Given the description of an element on the screen output the (x, y) to click on. 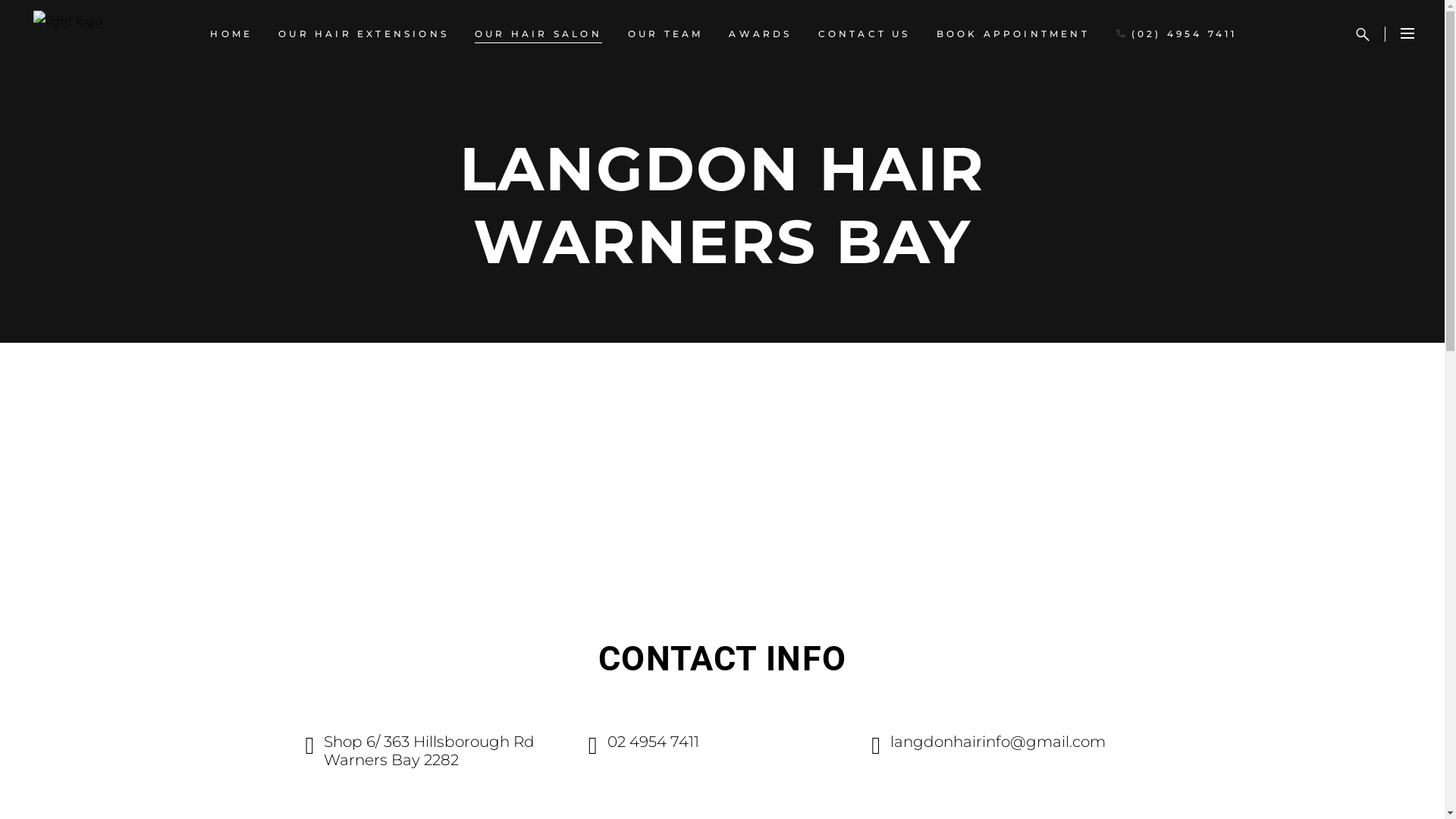
HOME Element type: text (231, 34)
OUR HAIR EXTENSIONS Element type: text (363, 34)
(02) 4954 7411 Element type: text (1176, 34)
OUR HAIR SALON Element type: text (538, 34)
CONTACT US Element type: text (864, 34)
BOOK APPOINTMENT Element type: text (1012, 34)
OUR TEAM Element type: text (665, 34)
AWARDS Element type: text (759, 34)
